Given the description of an element on the screen output the (x, y) to click on. 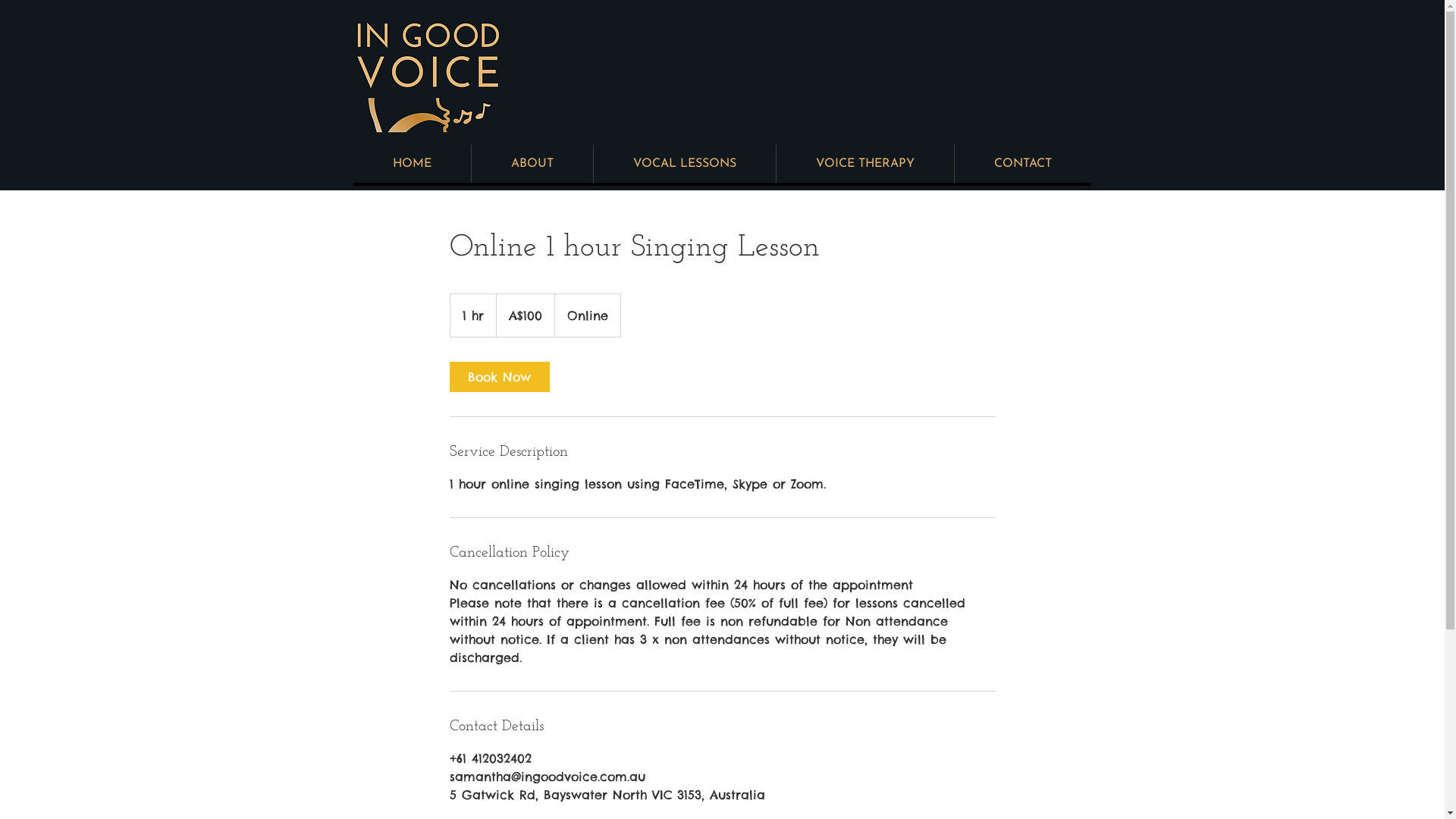
VOCAL LESSONS Element type: text (684, 163)
VOICE THERAPY Element type: text (864, 163)
ABOUT Element type: text (531, 163)
Book Now Element type: text (498, 376)
HOME Element type: text (411, 163)
CONTACT Element type: text (1022, 163)
